Given the description of an element on the screen output the (x, y) to click on. 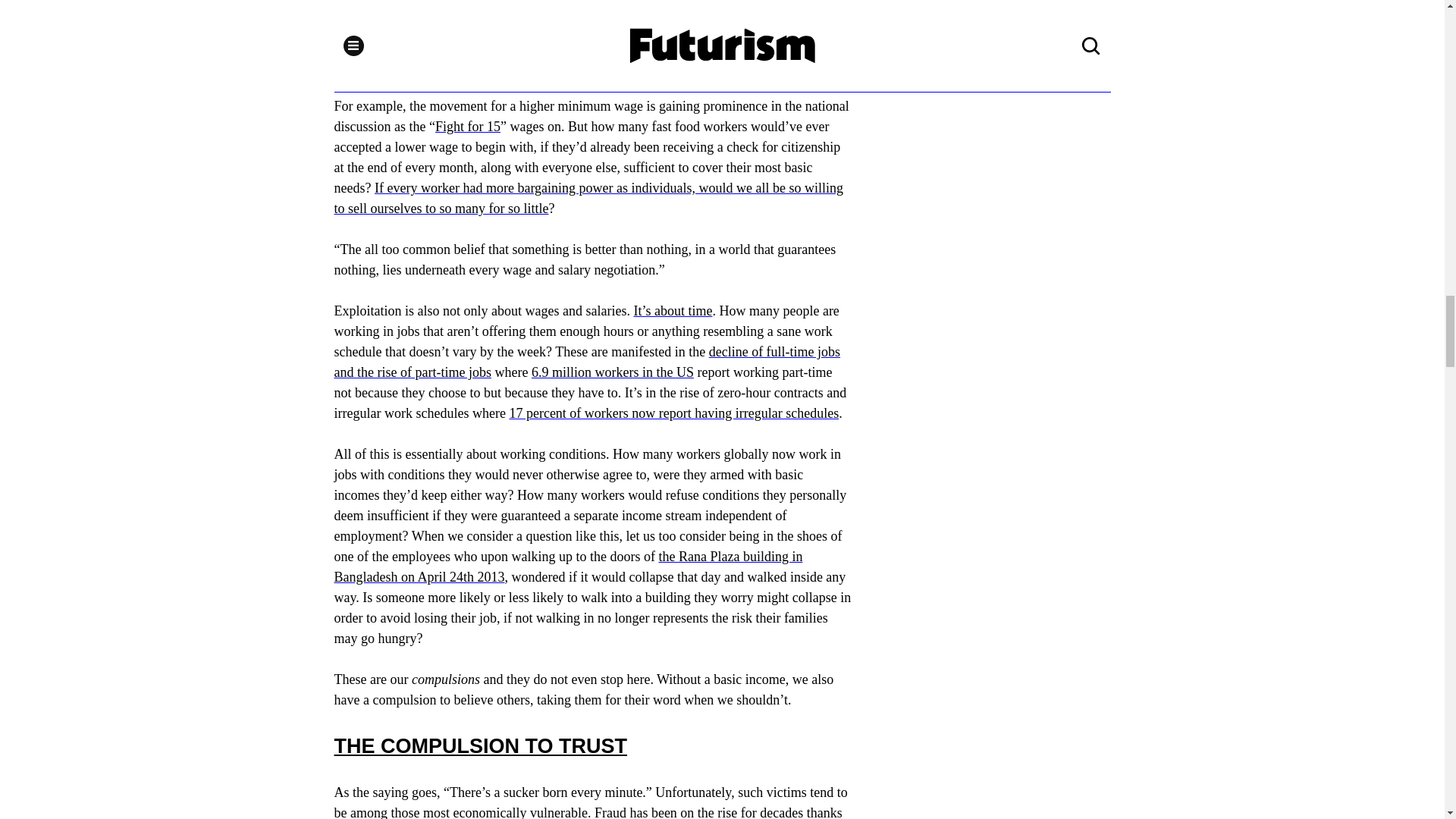
the Rana Plaza building in Bangladesh on April 24th 2013 (567, 566)
6.9 million workers in the US (612, 372)
17 percent of workers now report having irregular schedules (673, 412)
decline of full-time jobs and the rise of part-time jobs (586, 361)
Fight for 15 (467, 126)
